Given the description of an element on the screen output the (x, y) to click on. 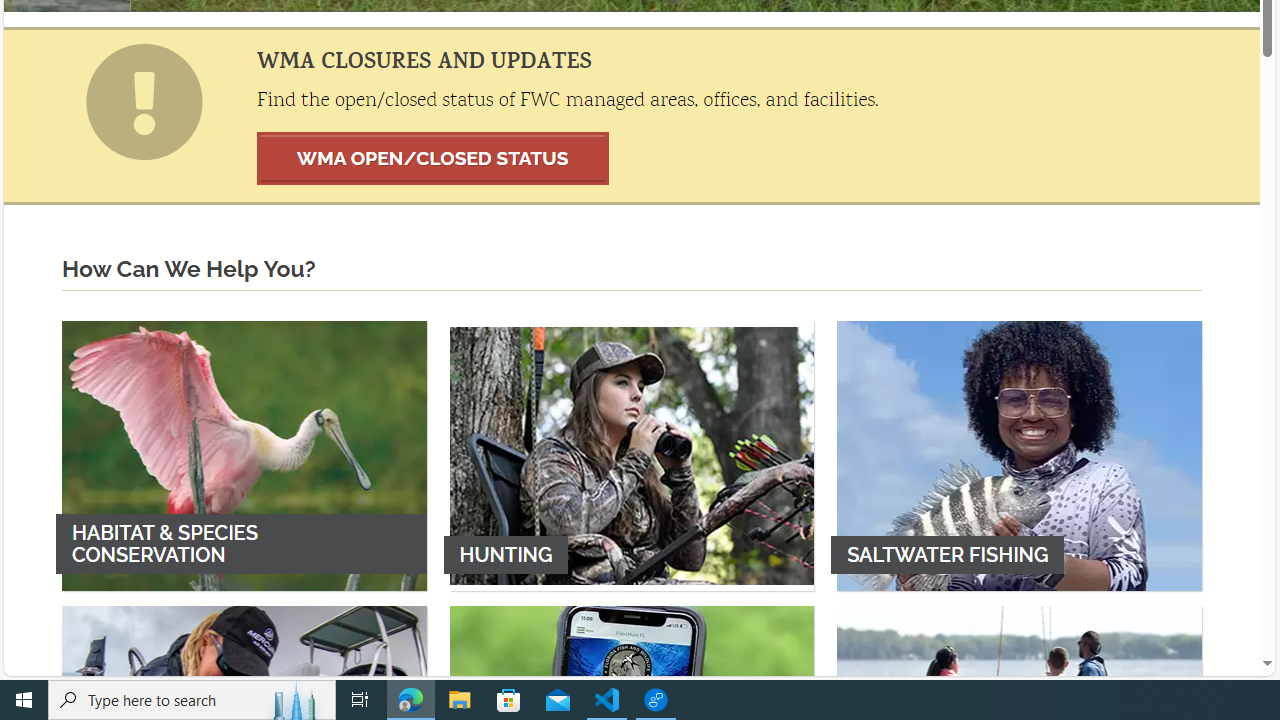
SALTWATER FISHING (1019, 455)
HABITAT & SPECIES CONSERVATION (244, 455)
WMA OPEN/CLOSED STATUS (433, 158)
HUNTING (632, 455)
